Given the description of an element on the screen output the (x, y) to click on. 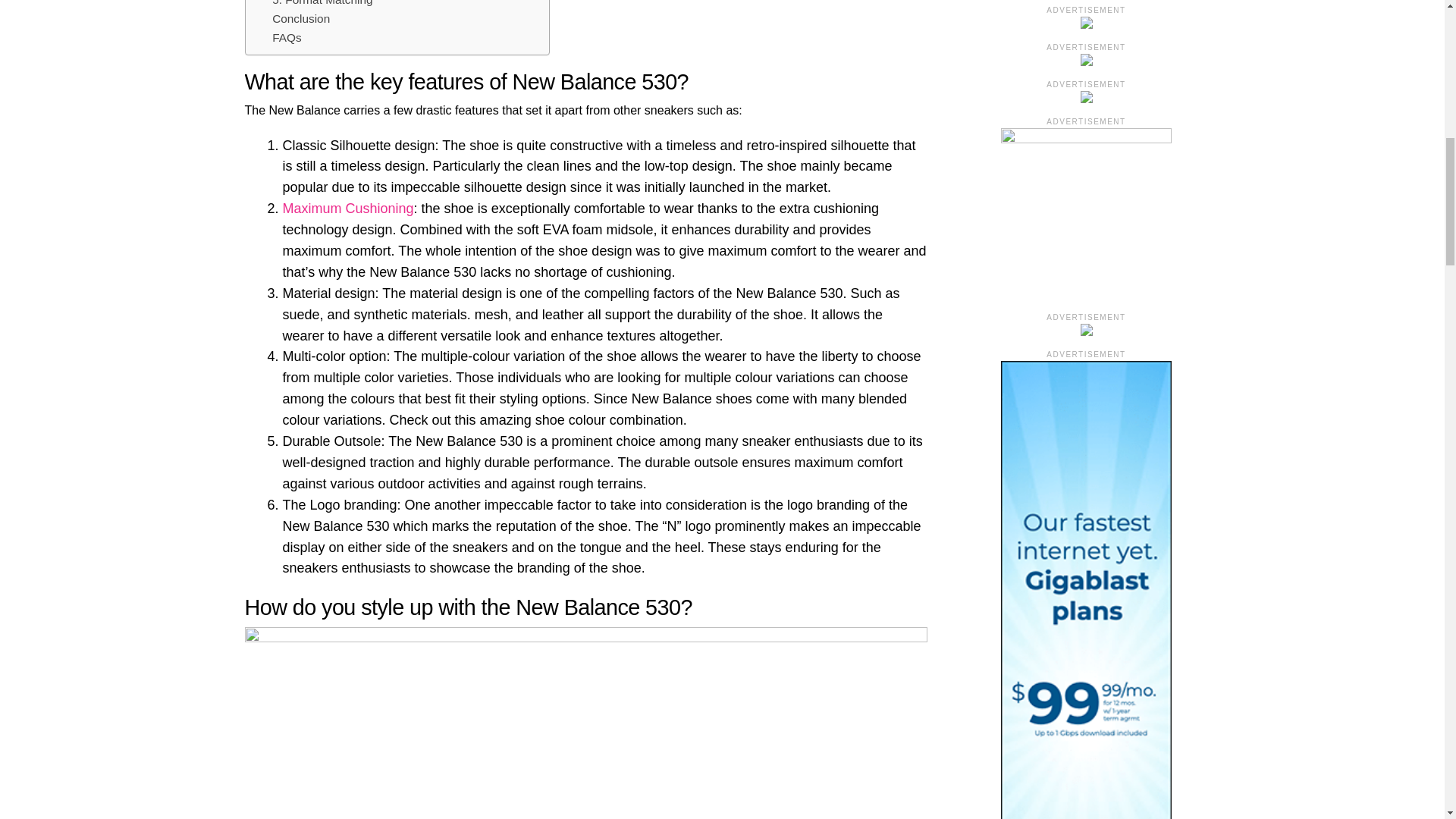
FAQs (286, 37)
